Given the description of an element on the screen output the (x, y) to click on. 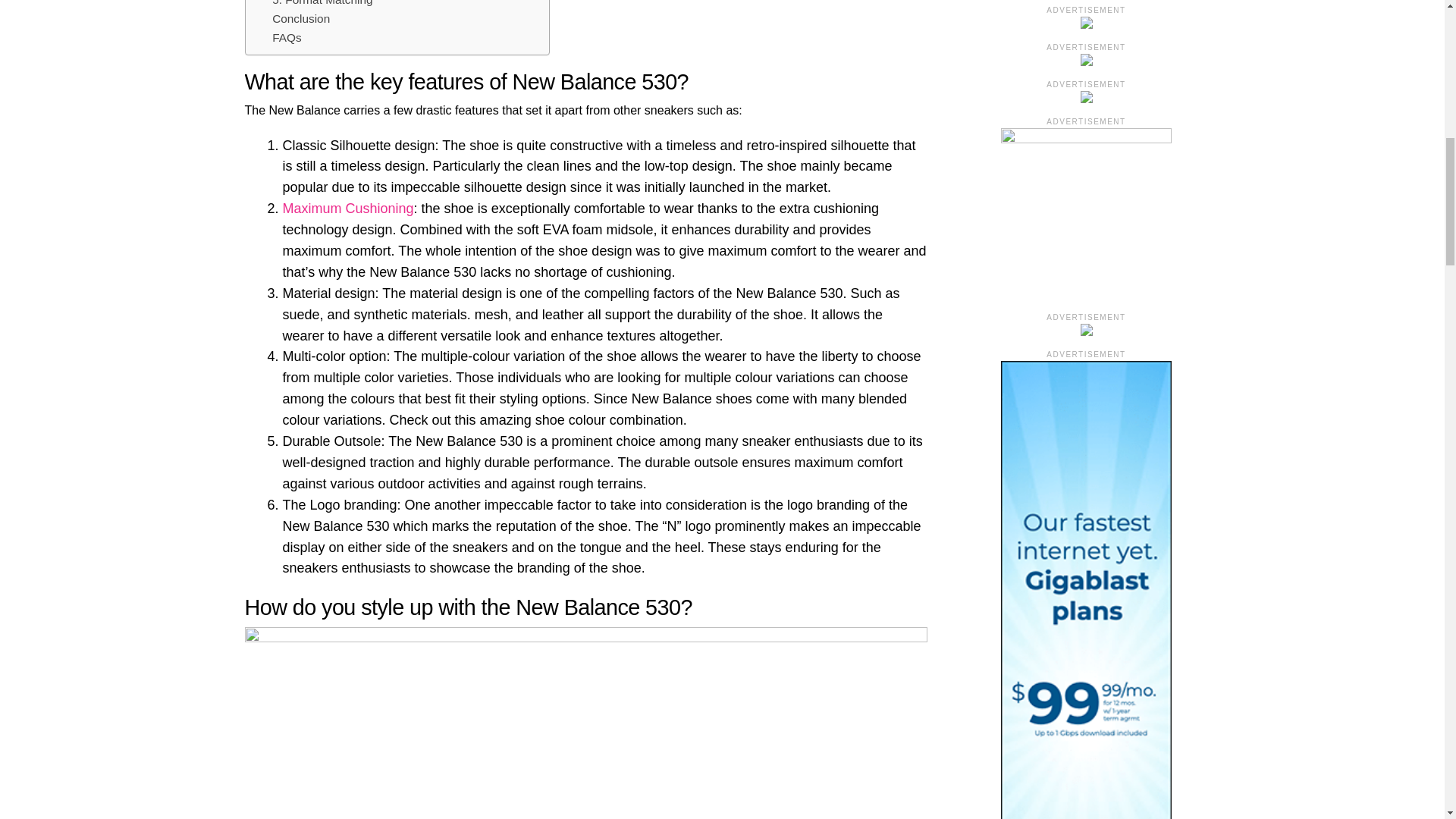
FAQs (286, 37)
